Given the description of an element on the screen output the (x, y) to click on. 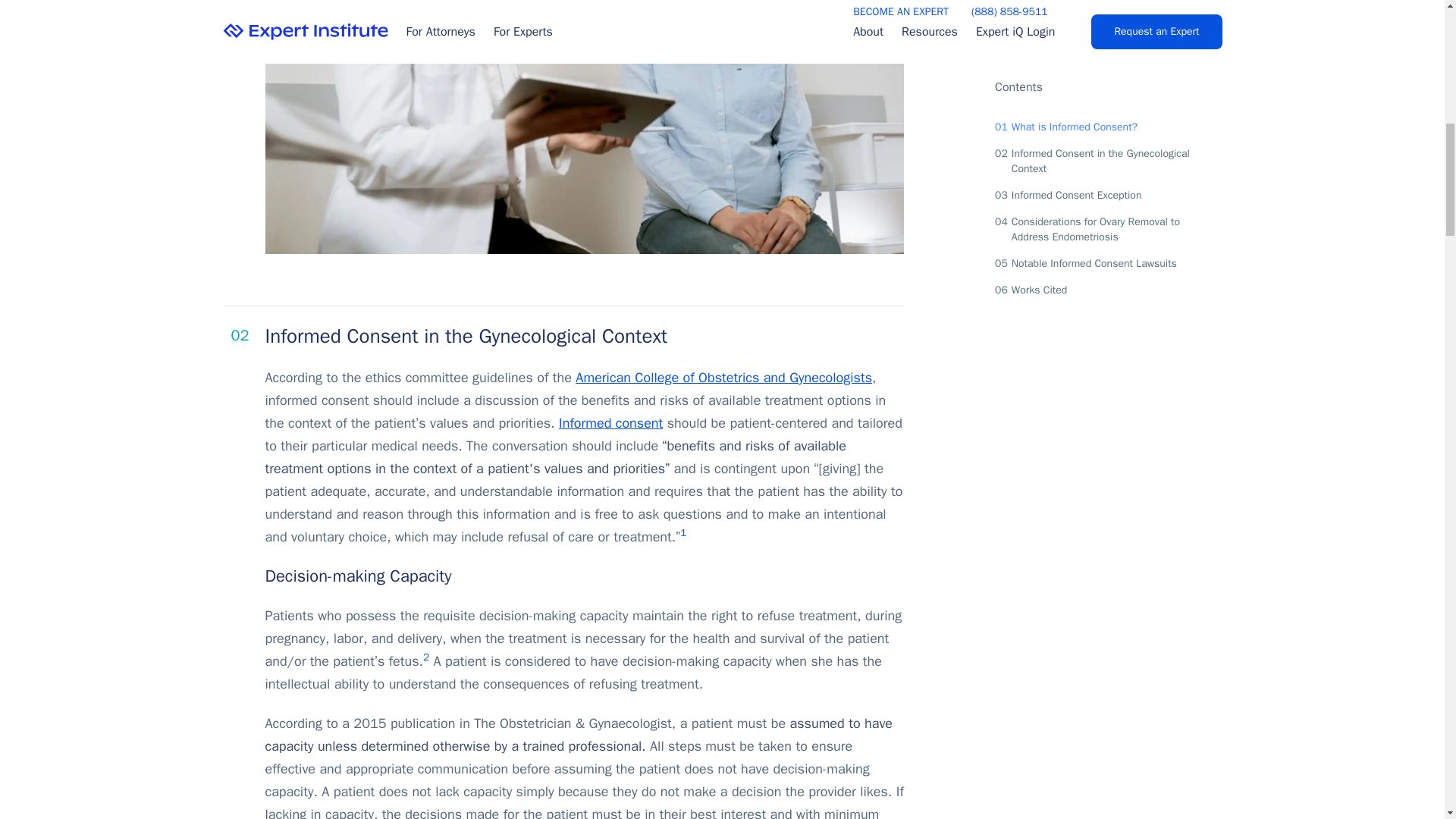
American College of Obstetrics and Gynecologists (723, 377)
